Given the description of an element on the screen output the (x, y) to click on. 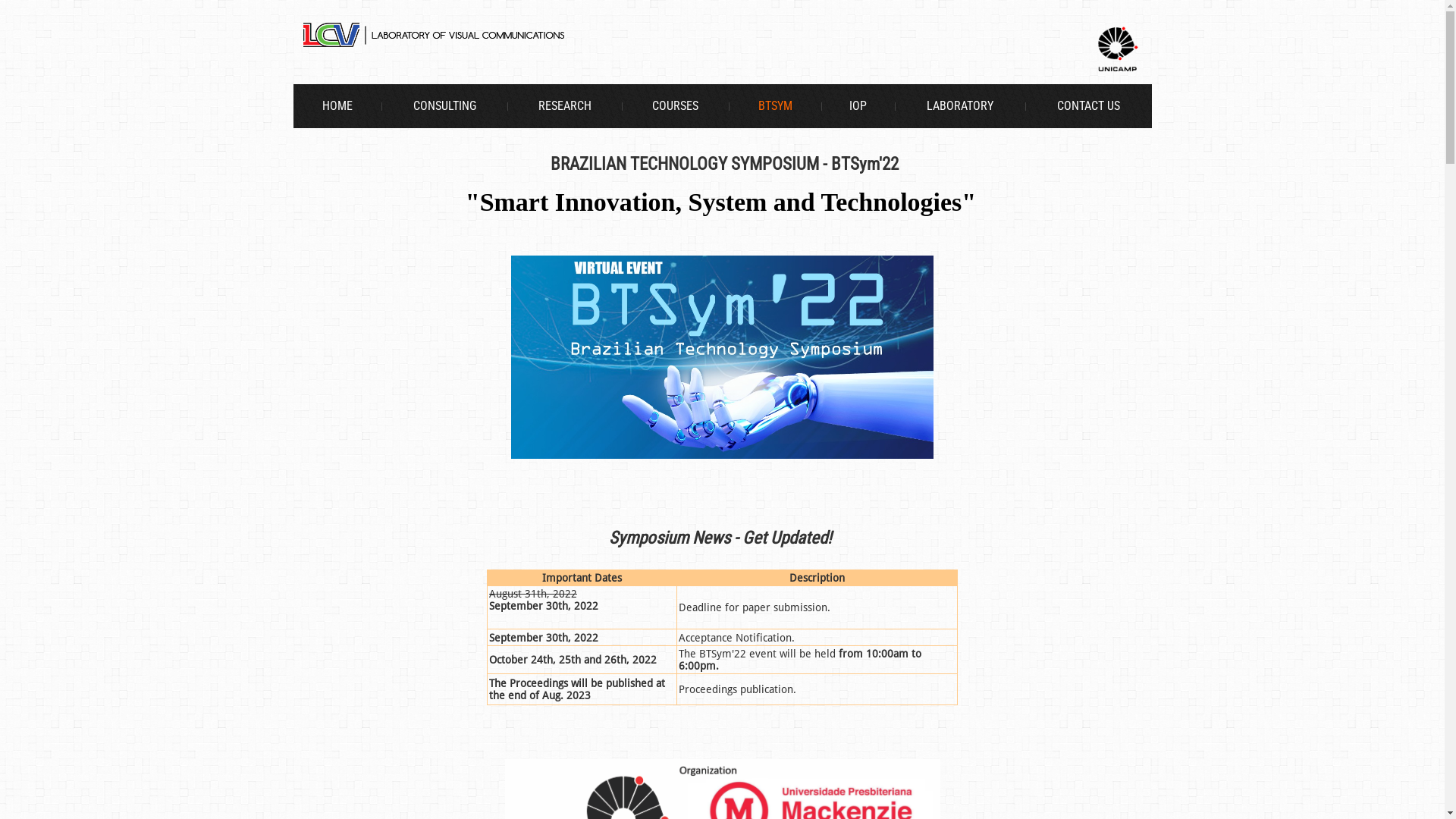
HOME Element type: text (336, 106)
CONTACT US Element type: text (1088, 106)
IOP Element type: text (858, 106)
CONSULTING Element type: text (444, 106)
